Given the description of an element on the screen output the (x, y) to click on. 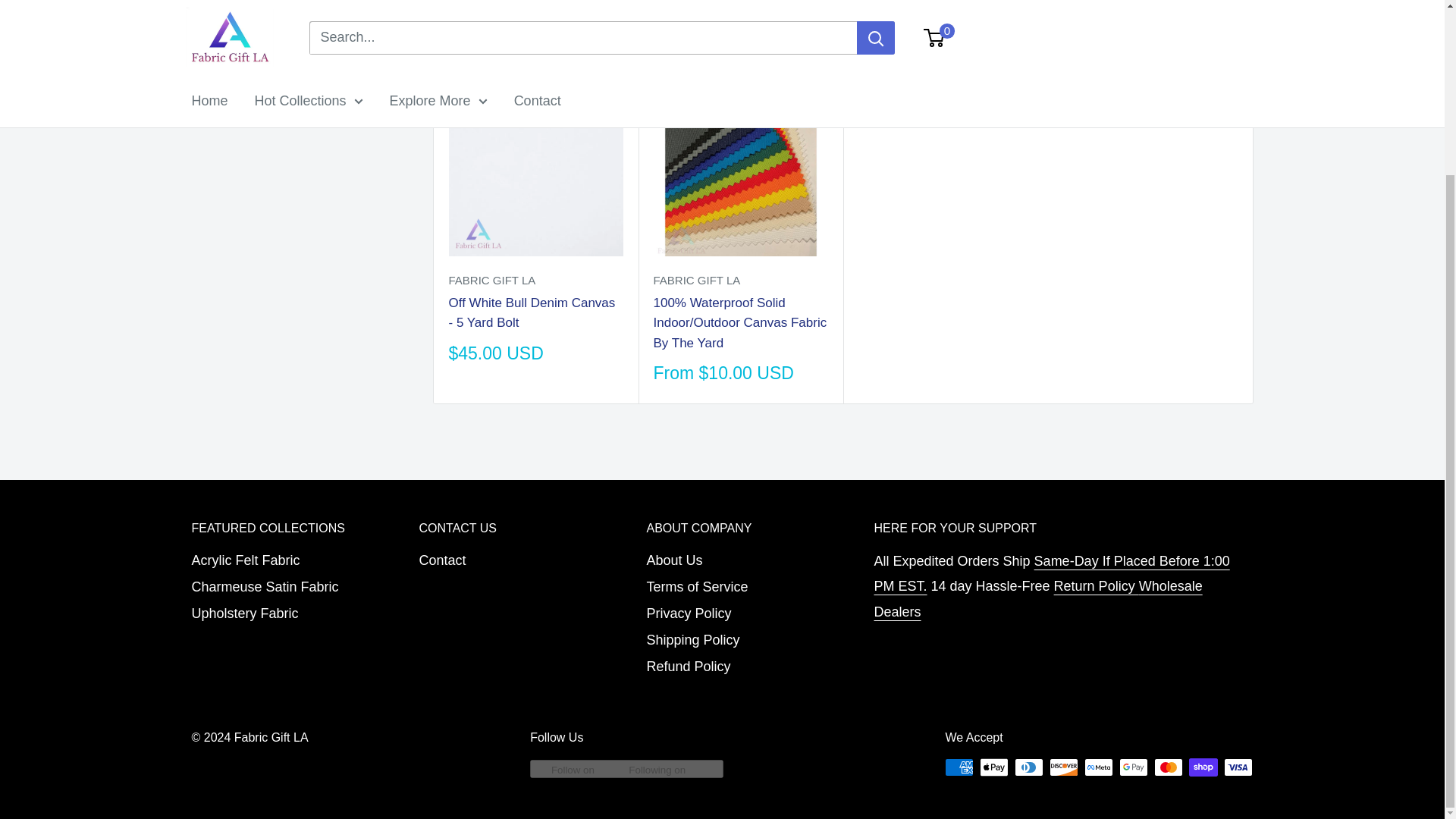
SHIPPING POLICY (1050, 573)
Returns policy (1096, 585)
